Given the description of an element on the screen output the (x, y) to click on. 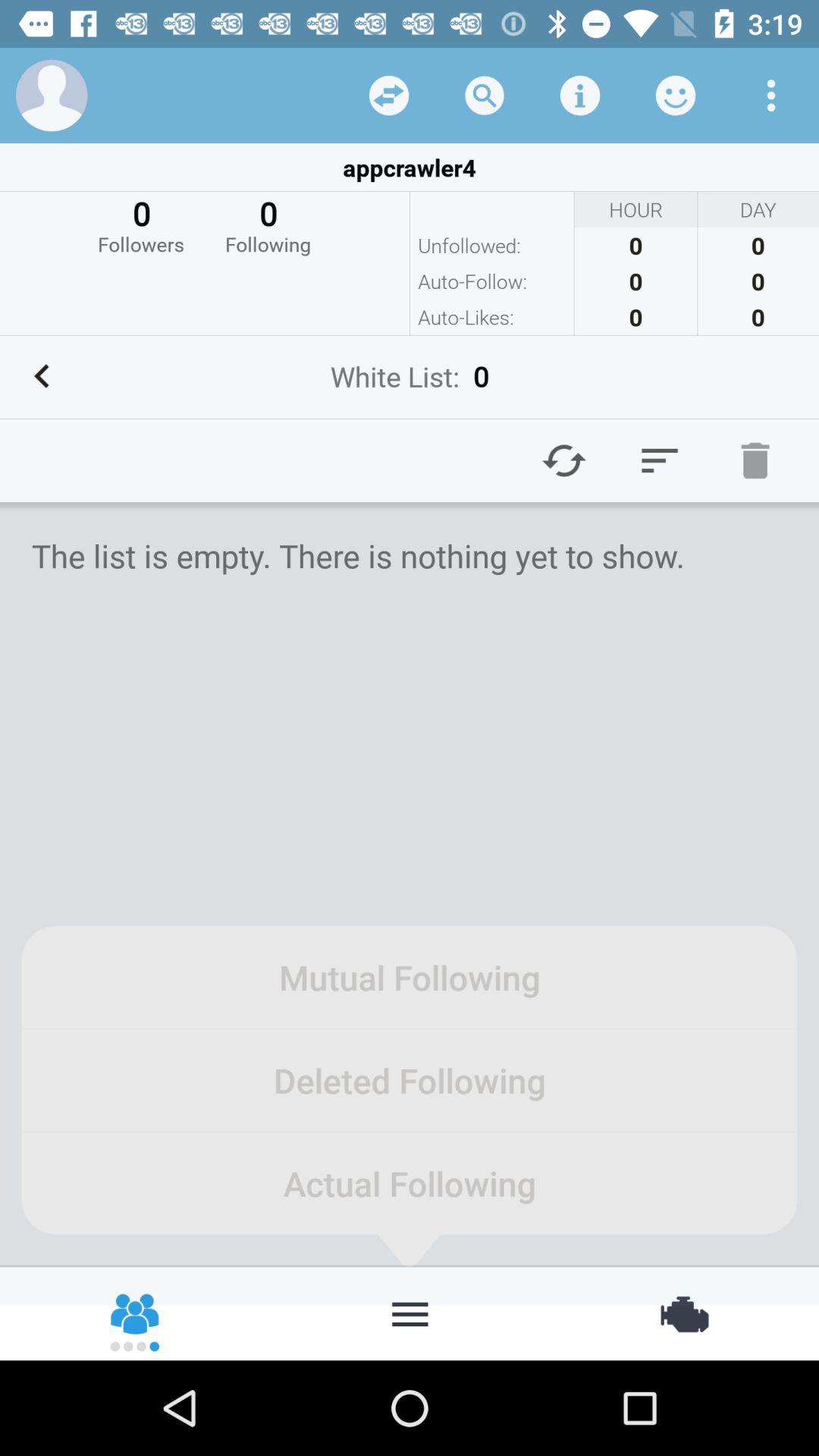
click on the button which is next to the information (675, 95)
select the delete icon on the right center of the page (755, 459)
click on 0 followers (140, 224)
